Given the description of an element on the screen output the (x, y) to click on. 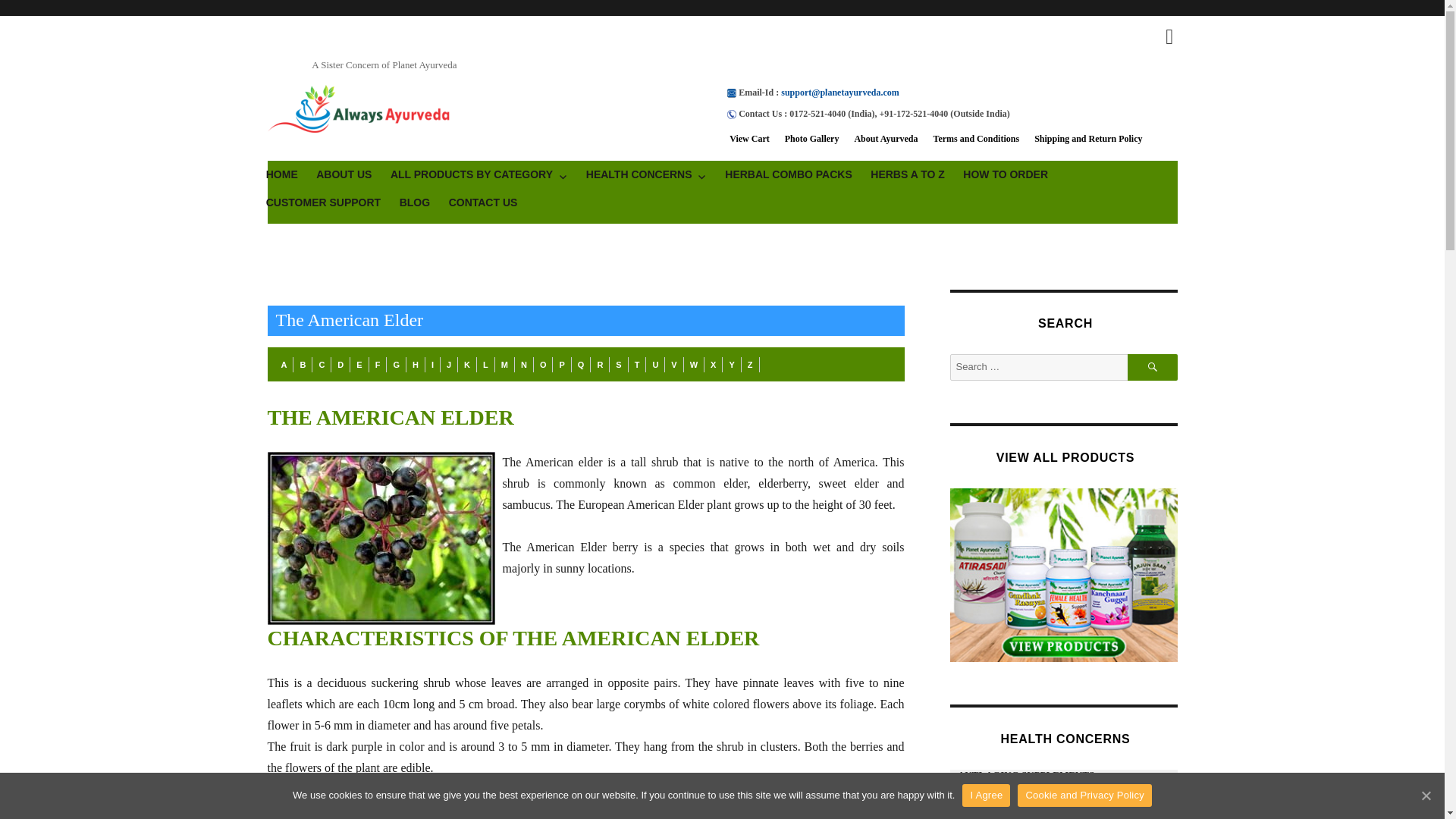
Shipping and Return Policy (1087, 138)
Photo Gallery (812, 138)
The American Elder (384, 538)
ALL PRODUCTS BY CATEGORY (478, 174)
HEALTH CONCERNS (646, 174)
About Ayurveda (885, 138)
View Cart (749, 138)
HOME (281, 174)
Terms and Conditions (976, 138)
ABOUT US (344, 174)
